Given the description of an element on the screen output the (x, y) to click on. 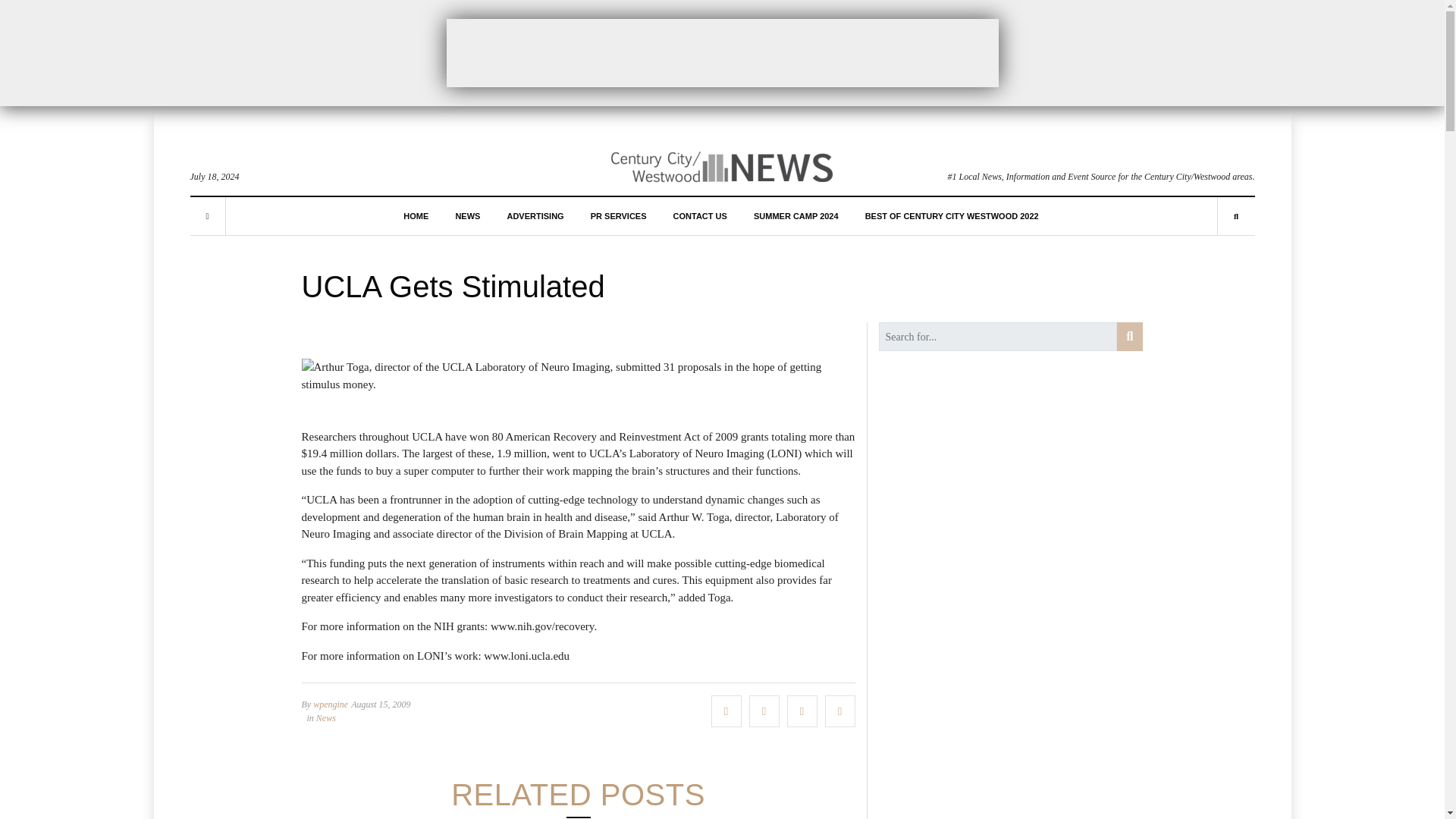
ADVERTISING (534, 216)
3rd party ad content (721, 52)
CONTACT US (699, 216)
SUMMER CAMP 2024 (796, 216)
Posts by wpengine (330, 704)
BEST OF CENTURY CITY WESTWOOD 2022 (951, 216)
PR SERVICES (618, 216)
wpengine (330, 704)
